Given the description of an element on the screen output the (x, y) to click on. 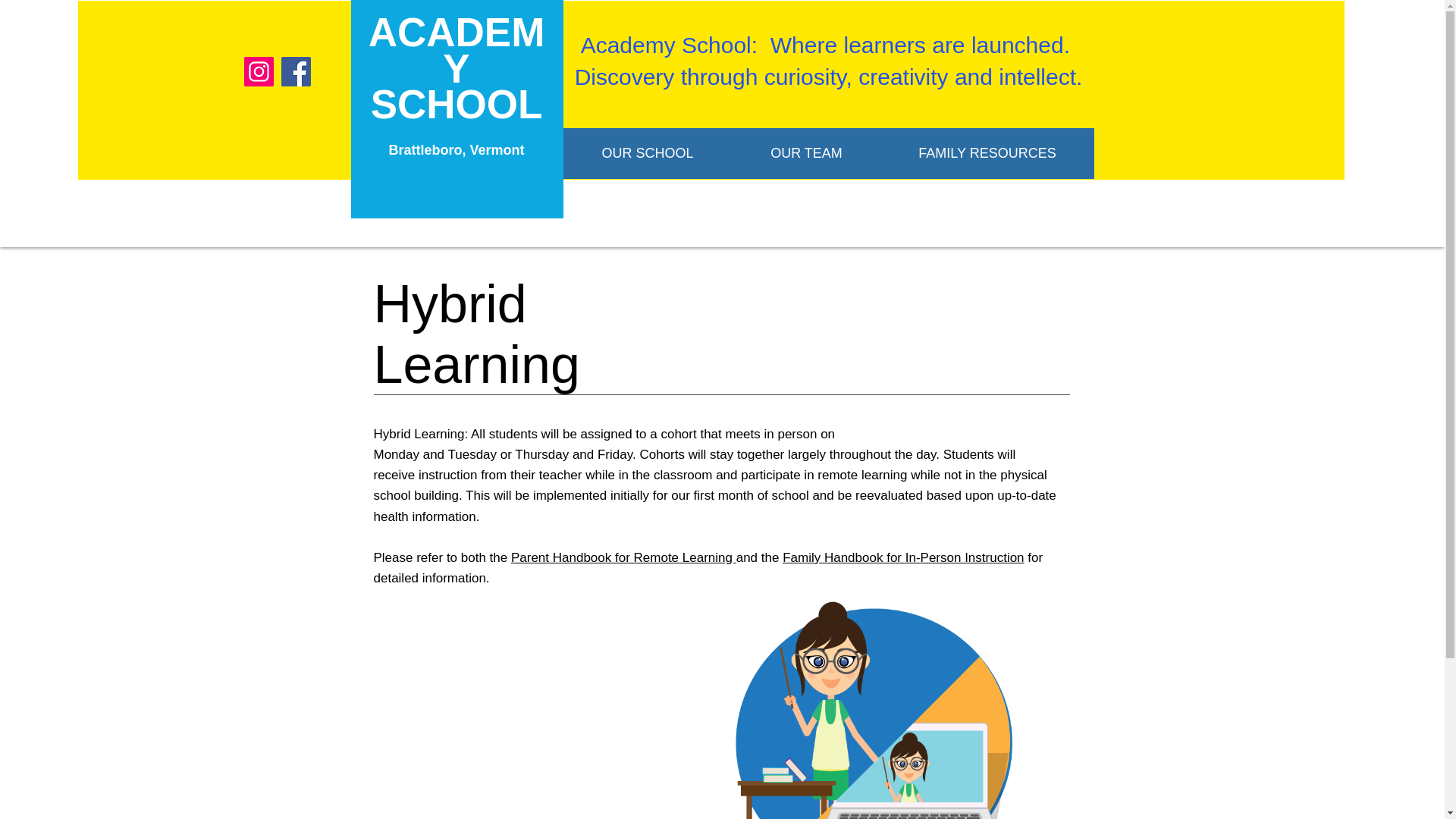
Family Handbook for In-Person Instruction (903, 557)
OUR TEAM (456, 85)
FAMILY RESOURCES (806, 153)
OUR SCHOOL (987, 153)
Parent Handbook for Remote Learning (647, 153)
